Given the description of an element on the screen output the (x, y) to click on. 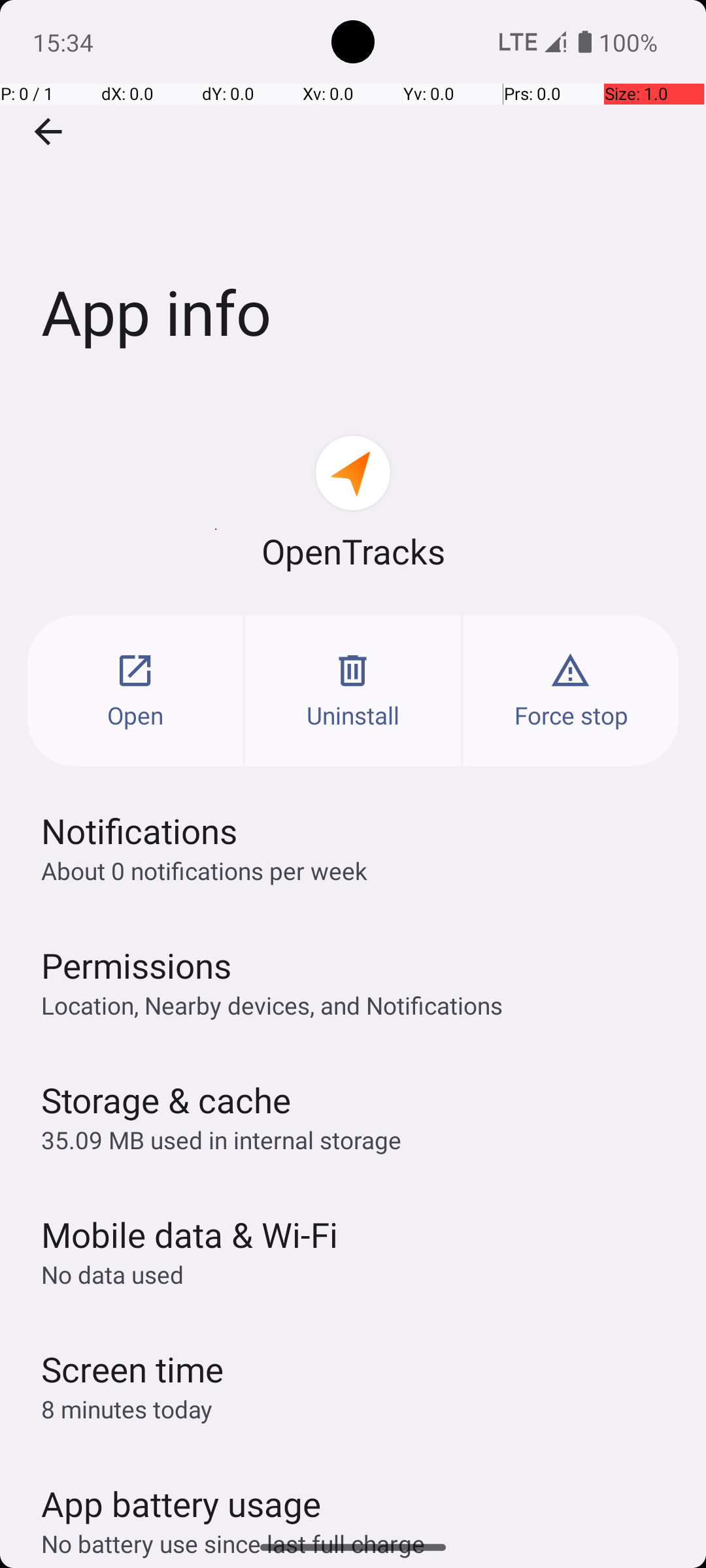
About 0 notifications per week Element type: android.widget.TextView (204, 870)
Location, Nearby devices, and Notifications Element type: android.widget.TextView (271, 1004)
35.09 MB used in internal storage Element type: android.widget.TextView (221, 1139)
8 minutes today Element type: android.widget.TextView (127, 1408)
